Given the description of an element on the screen output the (x, y) to click on. 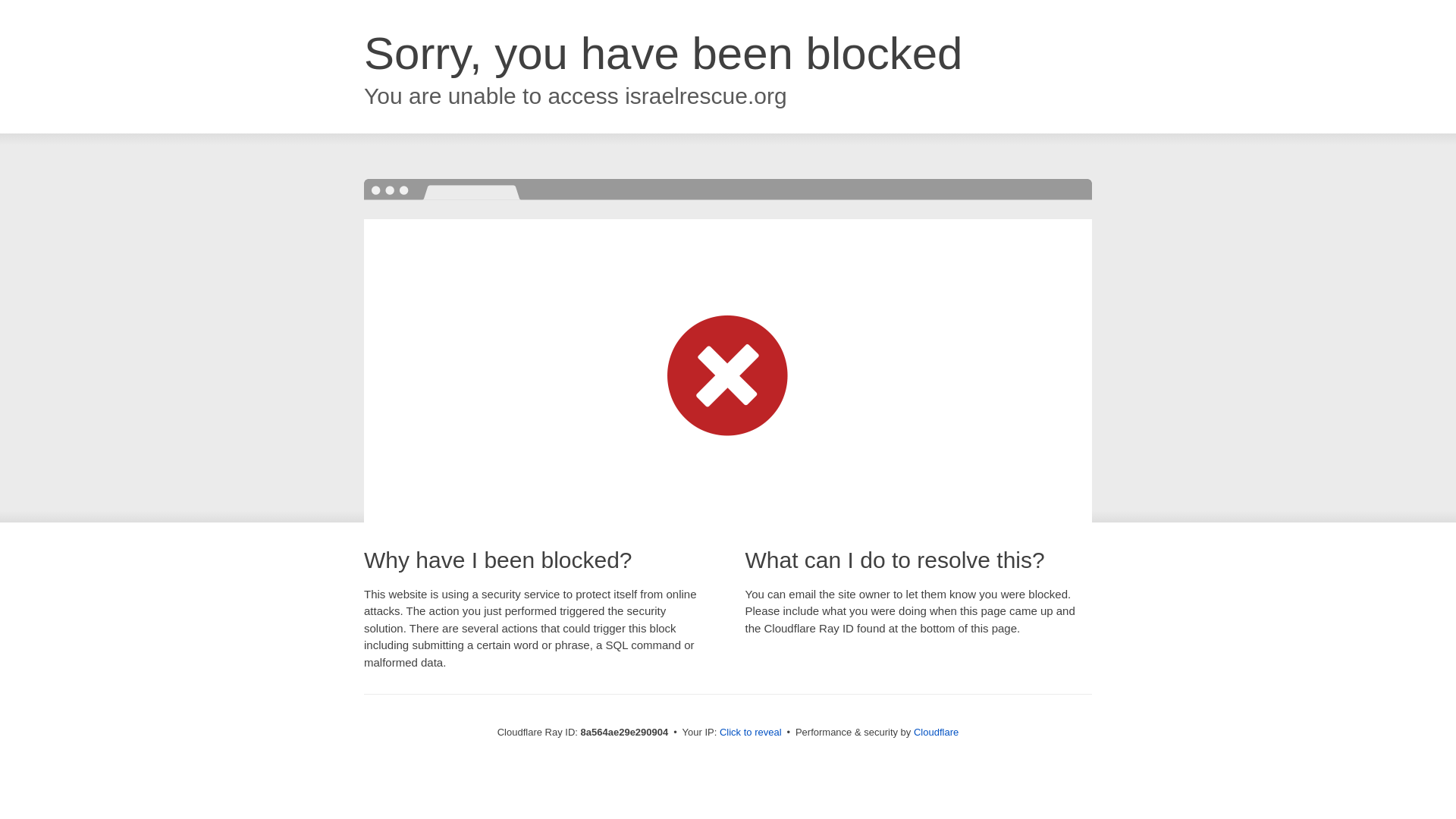
Click to reveal (750, 732)
Cloudflare (936, 731)
